Given the description of an element on the screen output the (x, y) to click on. 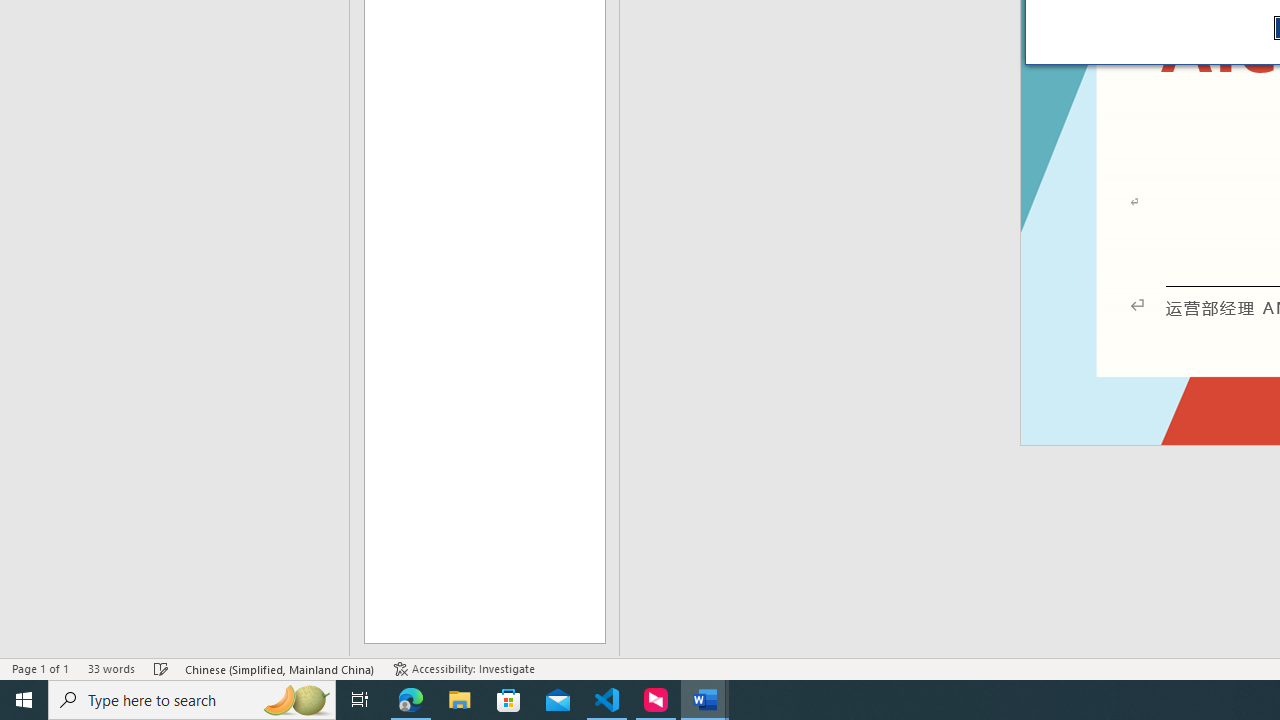
Visual Studio Code - 1 running window (607, 699)
Word - 2 running windows (704, 699)
Accessibility Checker Accessibility: Investigate (464, 668)
Spelling and Grammar Check Checking (161, 668)
Type here to search (191, 699)
File Explorer (460, 699)
Start (24, 699)
Page Number Page 1 of 1 (39, 668)
Search highlights icon opens search home window (295, 699)
Language Chinese (Simplified, Mainland China) (279, 668)
Microsoft Store (509, 699)
Task View (359, 699)
